Given the description of an element on the screen output the (x, y) to click on. 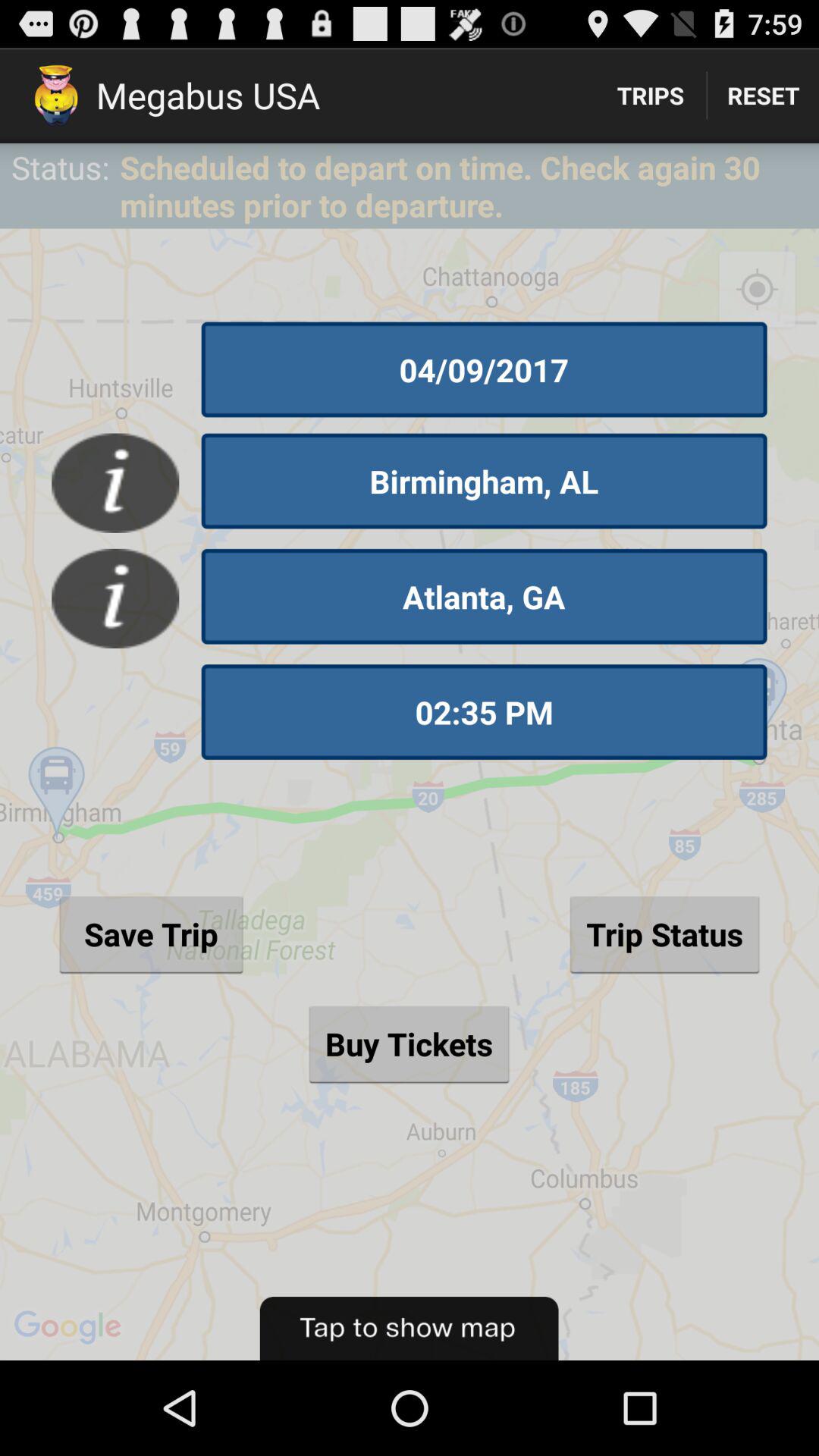
flip to the save trip (150, 934)
